Given the description of an element on the screen output the (x, y) to click on. 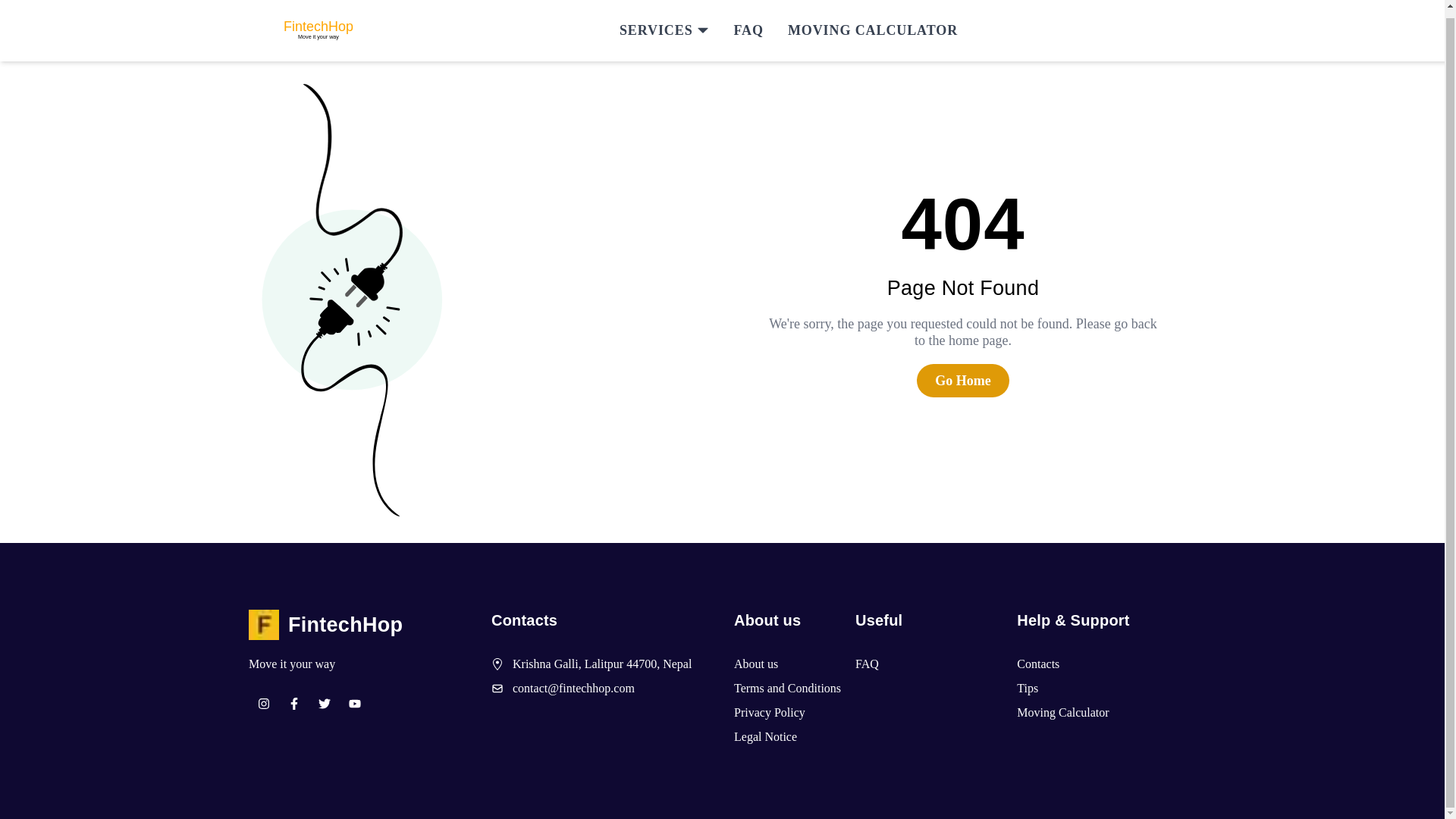
FAQ (747, 23)
Go Home (963, 380)
MOVING CALCULATOR (872, 23)
About us (755, 664)
Moving Calculator (1062, 712)
Privacy Policy (769, 712)
Legal Notice (764, 737)
Terms and Conditions (787, 688)
Tips (1027, 688)
Go Home (963, 380)
